Given the description of an element on the screen output the (x, y) to click on. 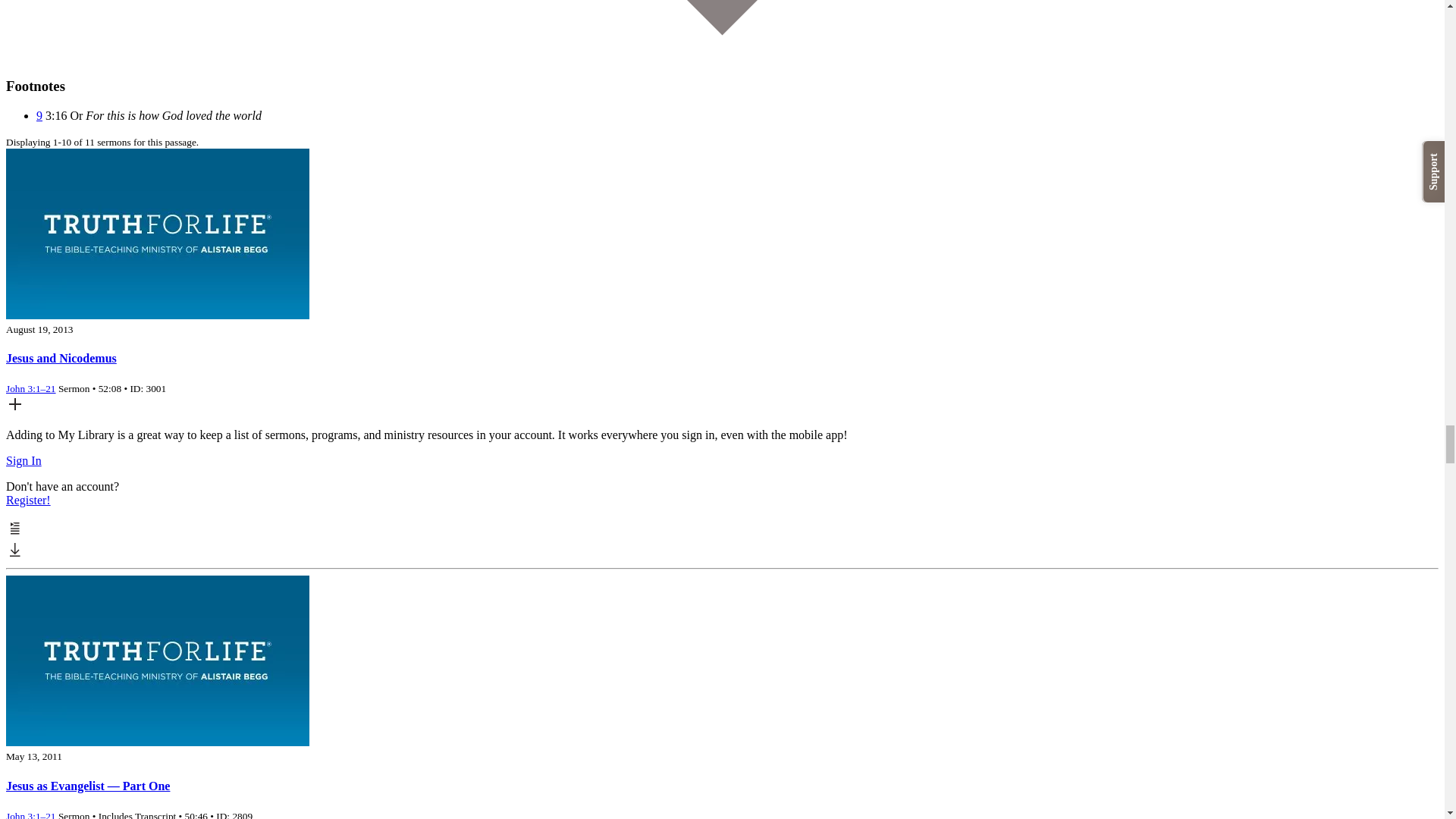
Add to My Library (14, 408)
Download Free (14, 554)
Listen Queue (14, 533)
